Given the description of an element on the screen output the (x, y) to click on. 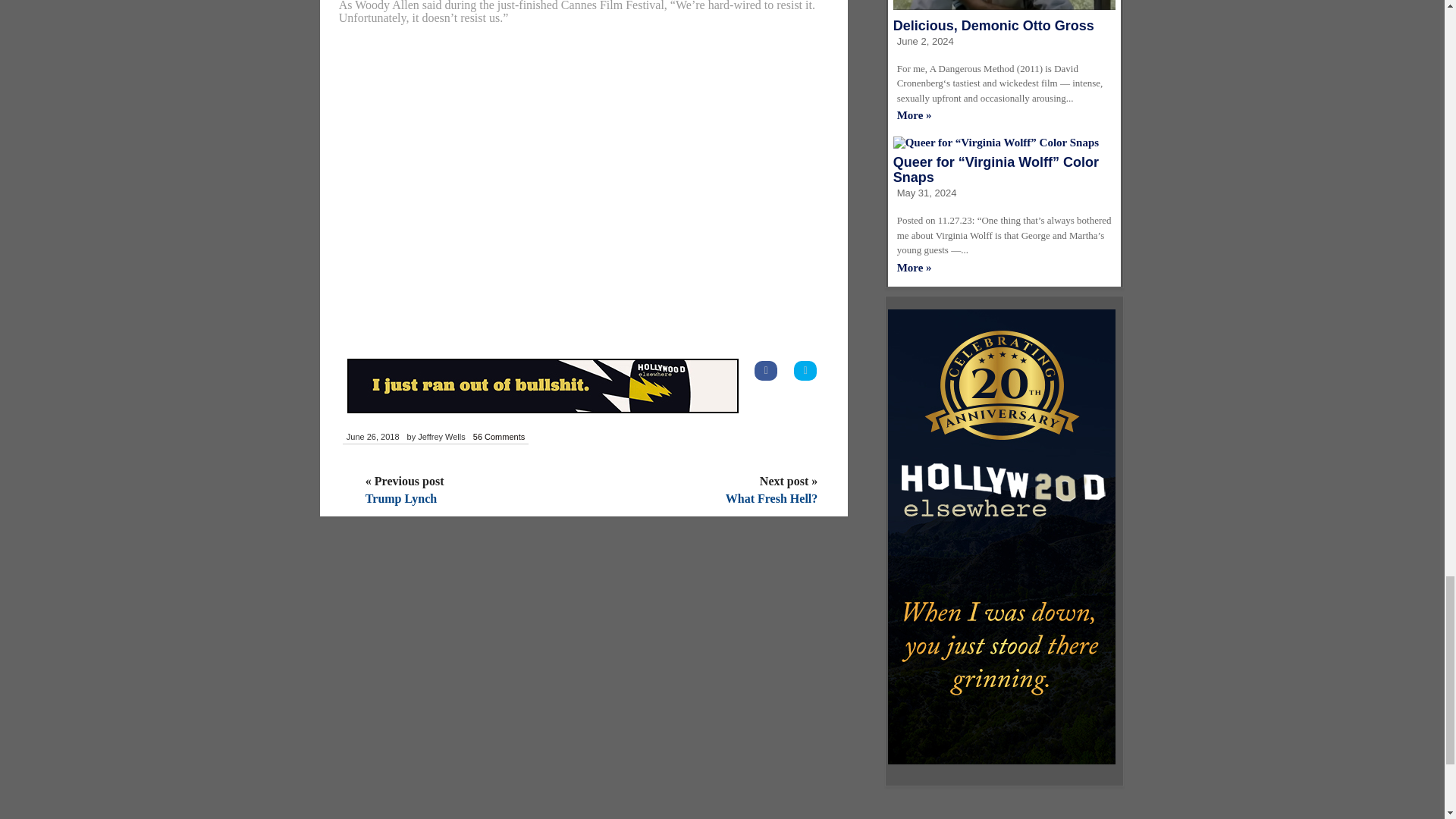
56 Comments (498, 437)
by Jeffrey Wells (435, 437)
June 26, 2018 (372, 437)
